Given the description of an element on the screen output the (x, y) to click on. 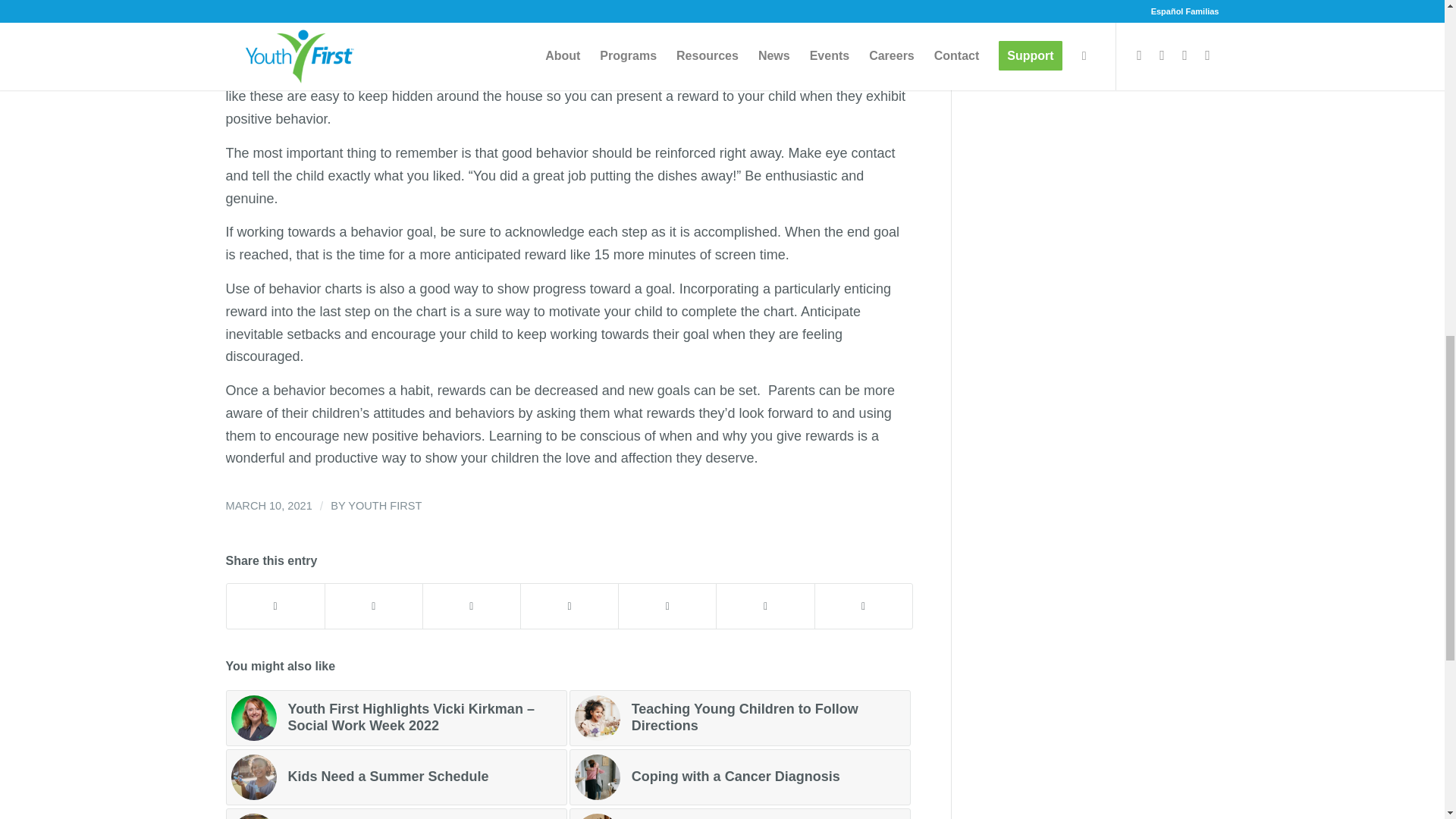
Posts by Youth First (384, 505)
